Given the description of an element on the screen output the (x, y) to click on. 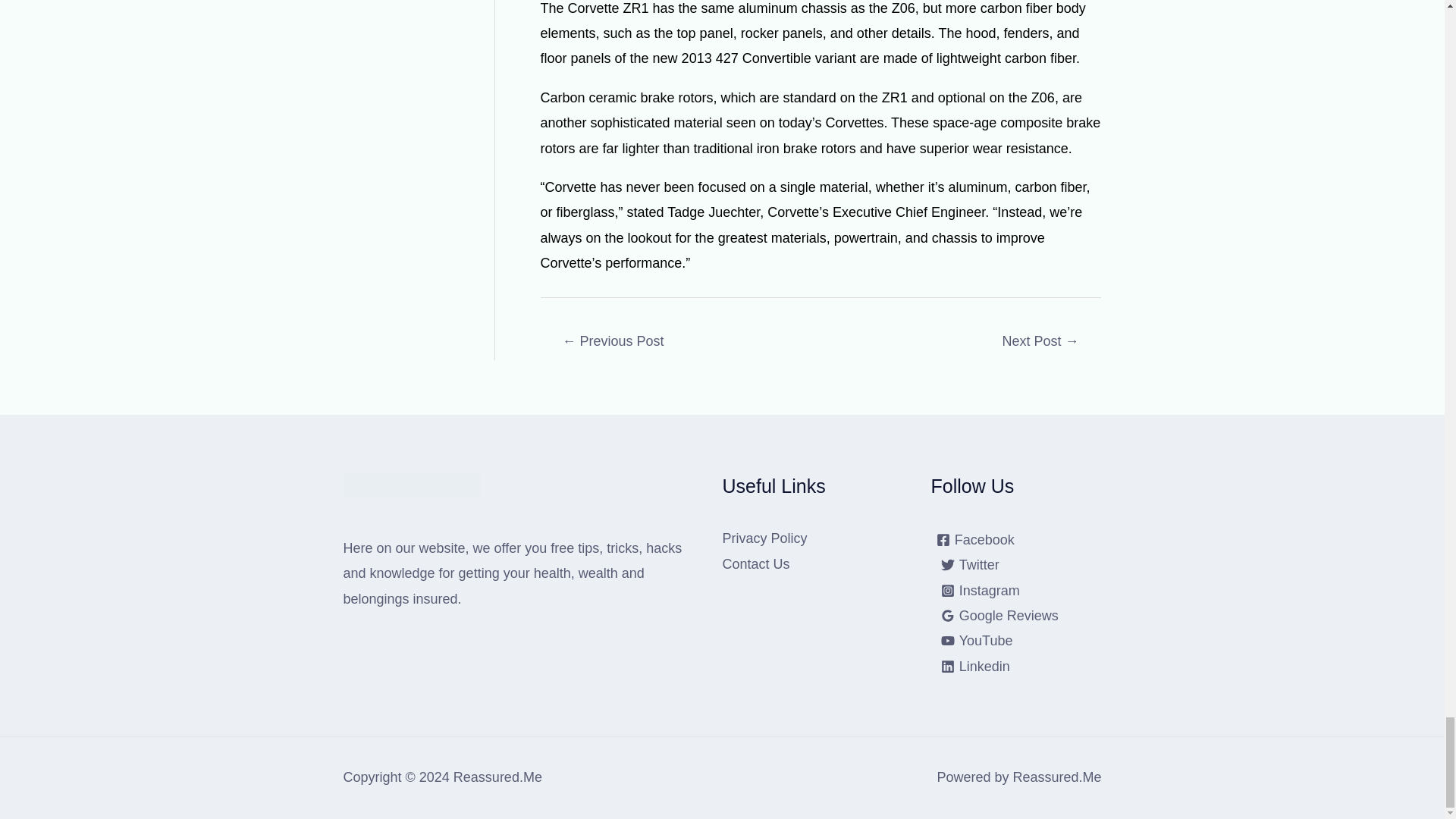
Privacy Policy (764, 538)
Contact Us (755, 563)
How Much Is A Cast Without Insurance? (612, 342)
Twitter (970, 564)
Google Reviews (1000, 615)
YouTube (976, 640)
Instagram (980, 590)
Is Vayarin Covered By Insurance? (1040, 342)
Linkedin (975, 666)
Facebook (975, 540)
